Given the description of an element on the screen output the (x, y) to click on. 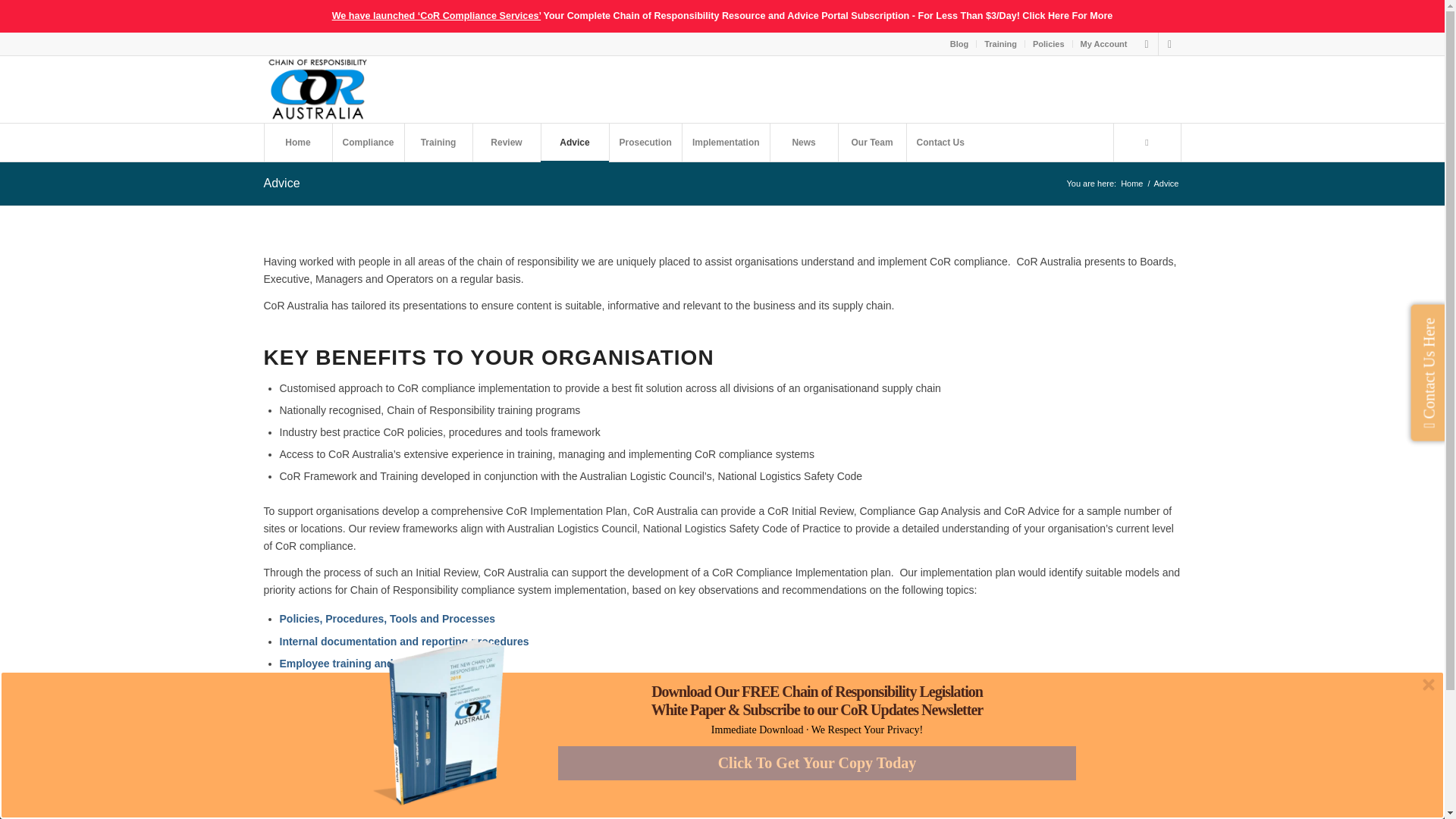
Chain of Responsibility Australia (1131, 183)
Compliance (367, 142)
Click To Get Your Copy Today (816, 763)
CoR Compliance Services (722, 15)
Policies (1048, 44)
Facebook (1169, 791)
Blog (959, 44)
Home (297, 142)
Permanent Link: Advice (281, 182)
X (1146, 43)
Training (1000, 44)
Review (505, 142)
My Account (1103, 44)
CoRAustralia (317, 89)
Close (1429, 684)
